Given the description of an element on the screen output the (x, y) to click on. 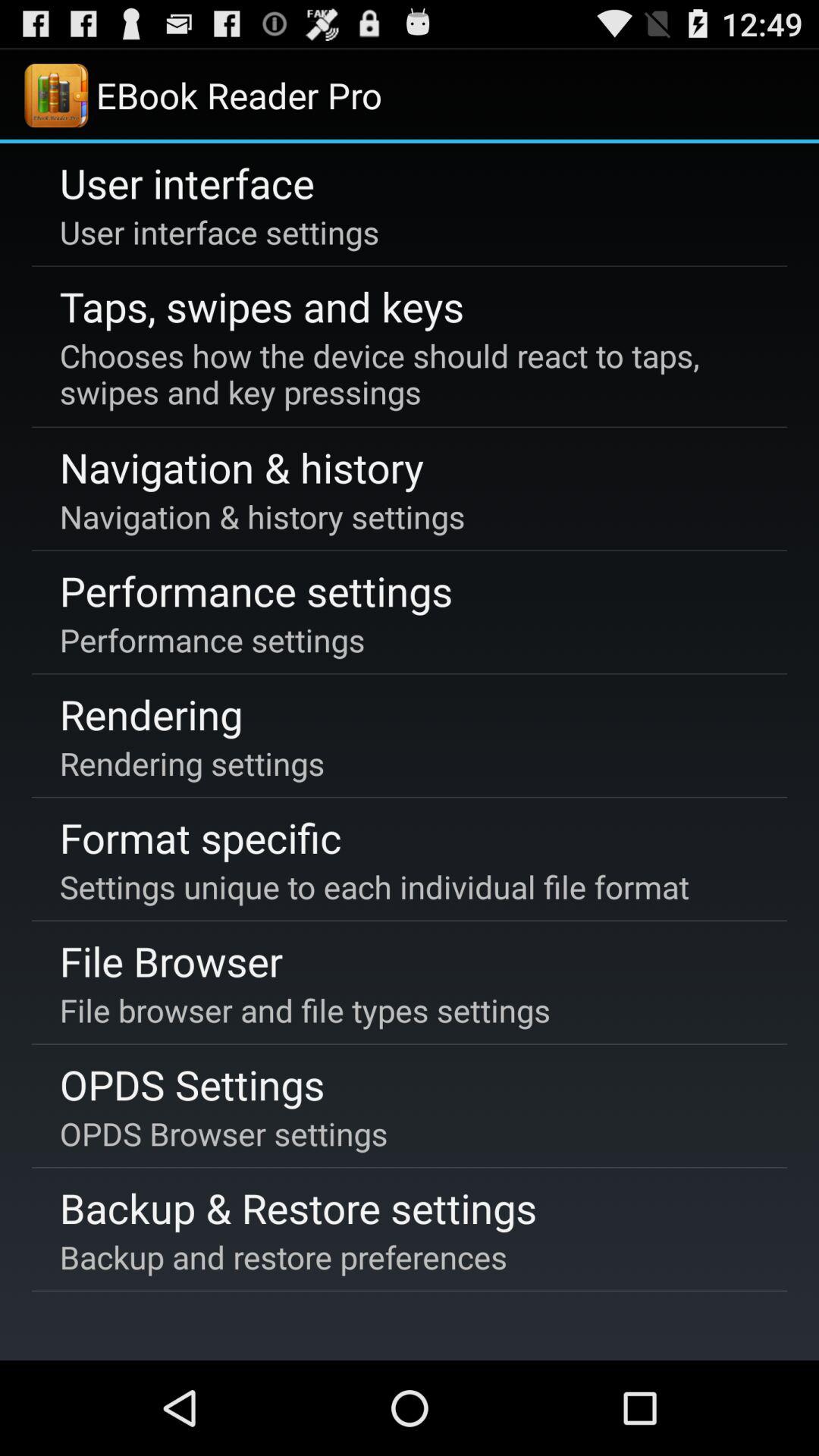
scroll to the rendering settings item (191, 762)
